Given the description of an element on the screen output the (x, y) to click on. 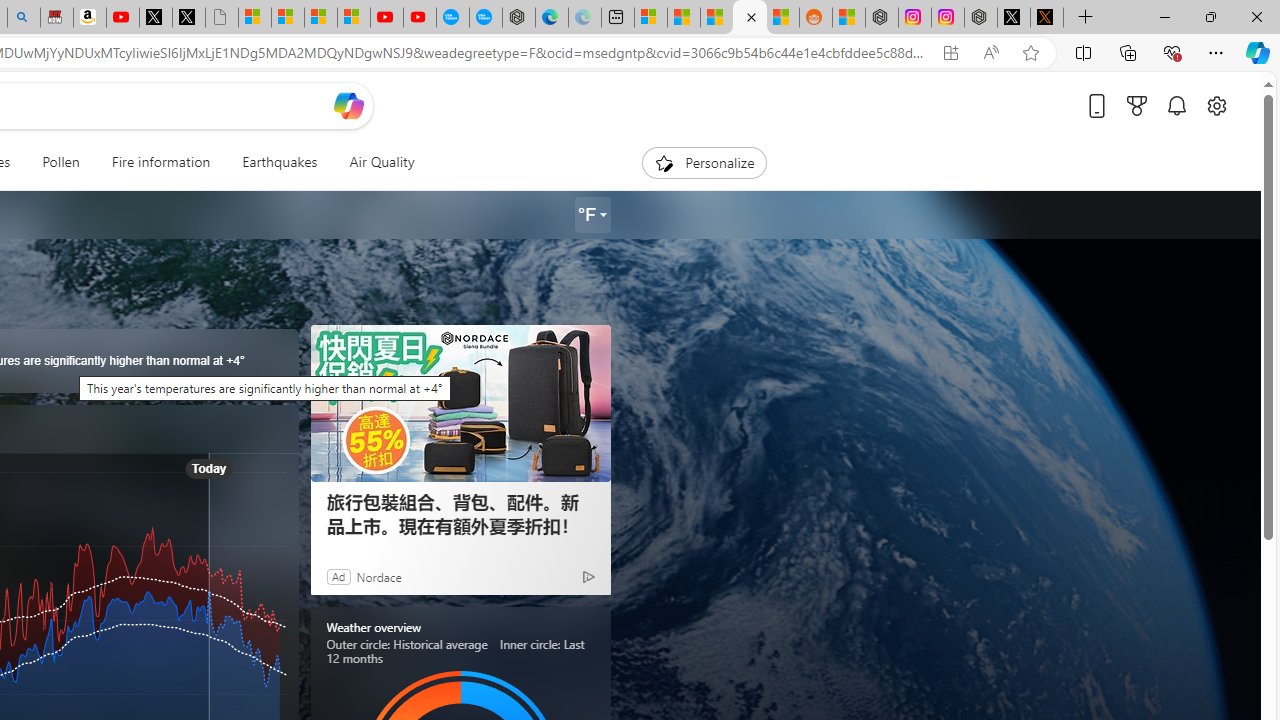
Add this page to favorites (Ctrl+D) (1030, 53)
Split screen (1083, 52)
Restore (1210, 16)
Nordace - Summer Adventures 2024 (981, 17)
Untitled (222, 17)
Open Copilot (347, 105)
The most popular Google 'how to' searches (485, 17)
Nordace (@NordaceOfficial) / X (1014, 17)
Microsoft rewards (1137, 105)
Fire information (160, 162)
Ad Choice (588, 575)
Air Quality (381, 162)
